Given the description of an element on the screen output the (x, y) to click on. 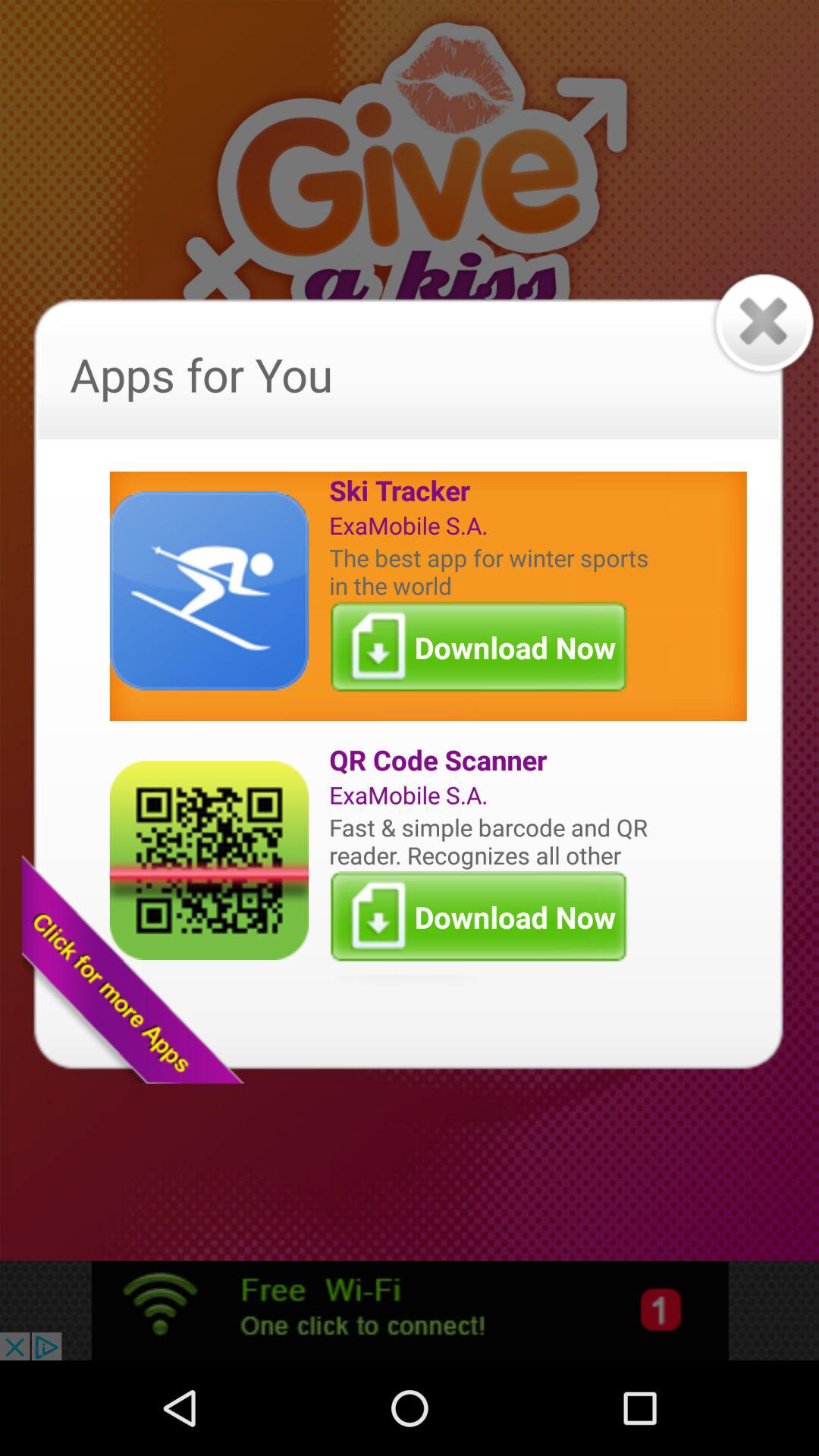
flip until the best app (492, 571)
